Given the description of an element on the screen output the (x, y) to click on. 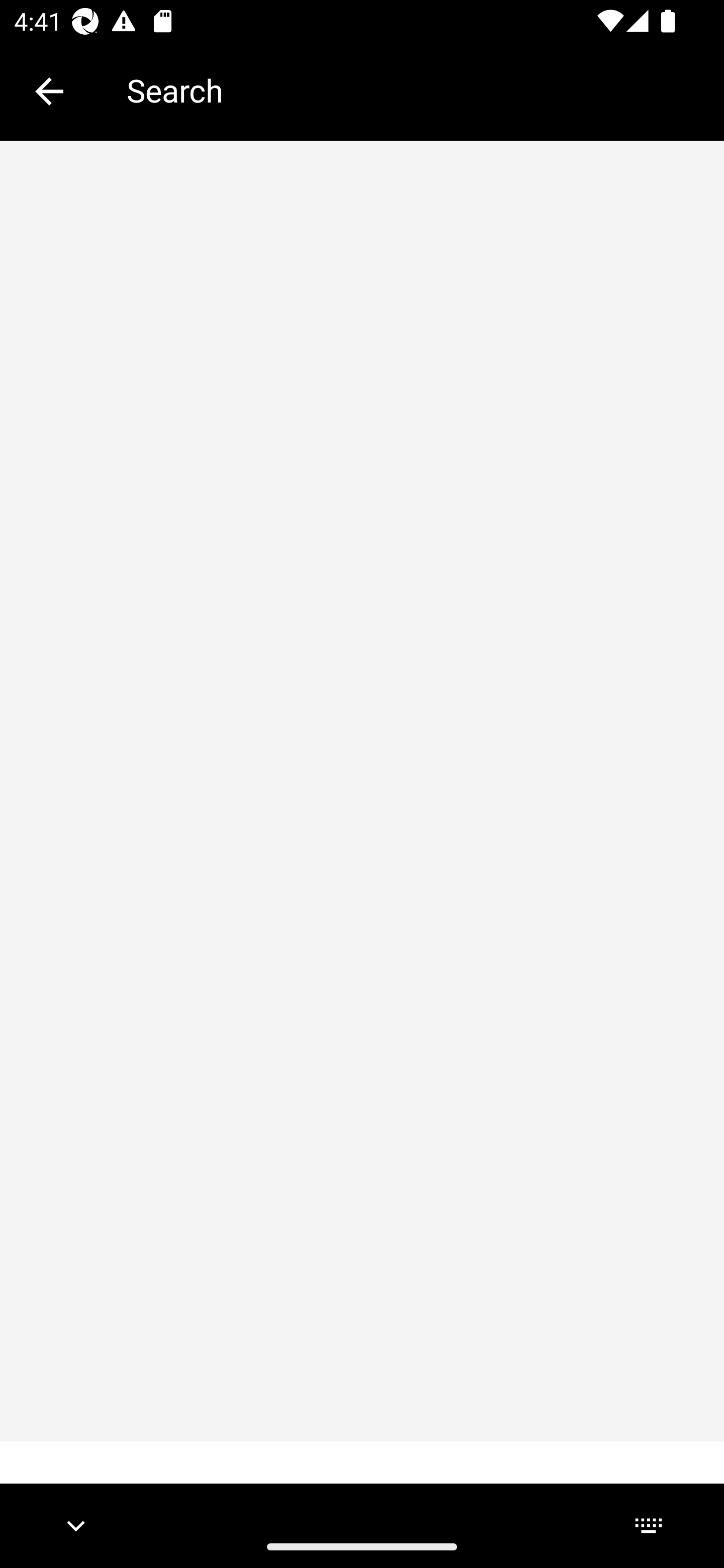
Collapse (49, 91)
Search (411, 90)
